Given the description of an element on the screen output the (x, y) to click on. 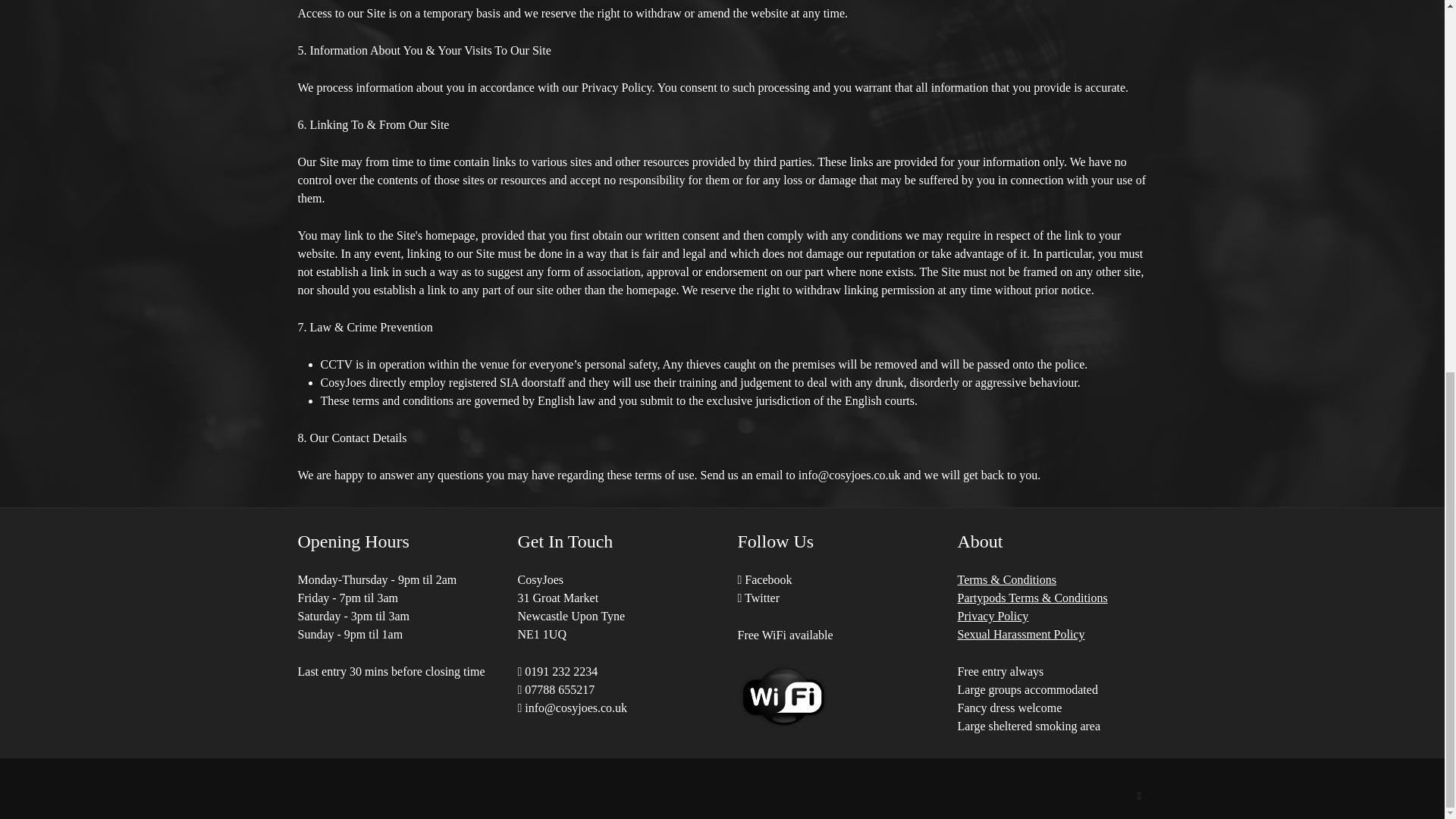
Twitter (757, 597)
Facebook (764, 579)
Sexual Harassment Policy (1020, 634)
07788 655217 (555, 689)
0191 232 2234 (556, 671)
Privacy Policy (991, 615)
